Given the description of an element on the screen output the (x, y) to click on. 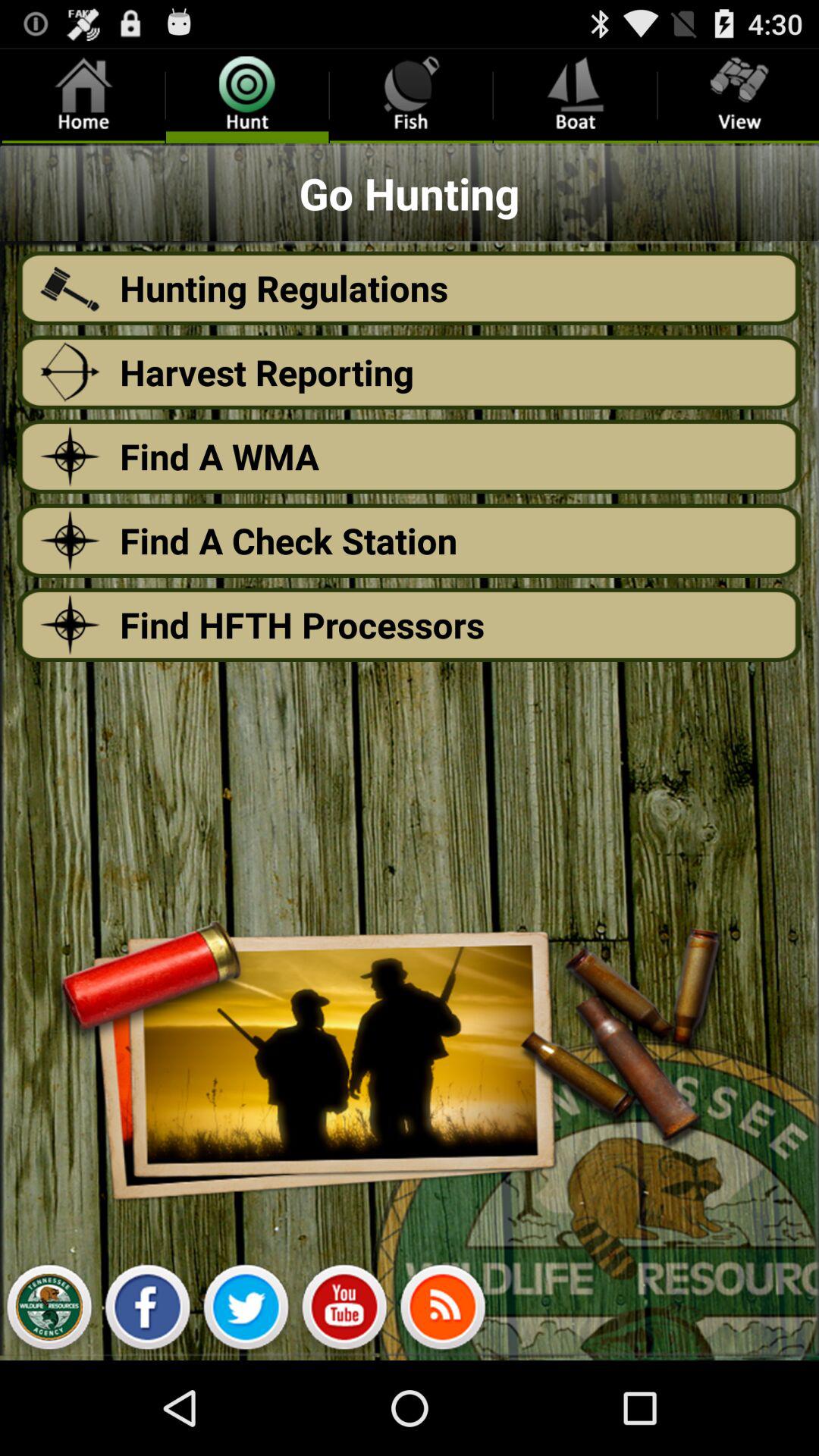
access additonal social media (442, 1311)
